Given the description of an element on the screen output the (x, y) to click on. 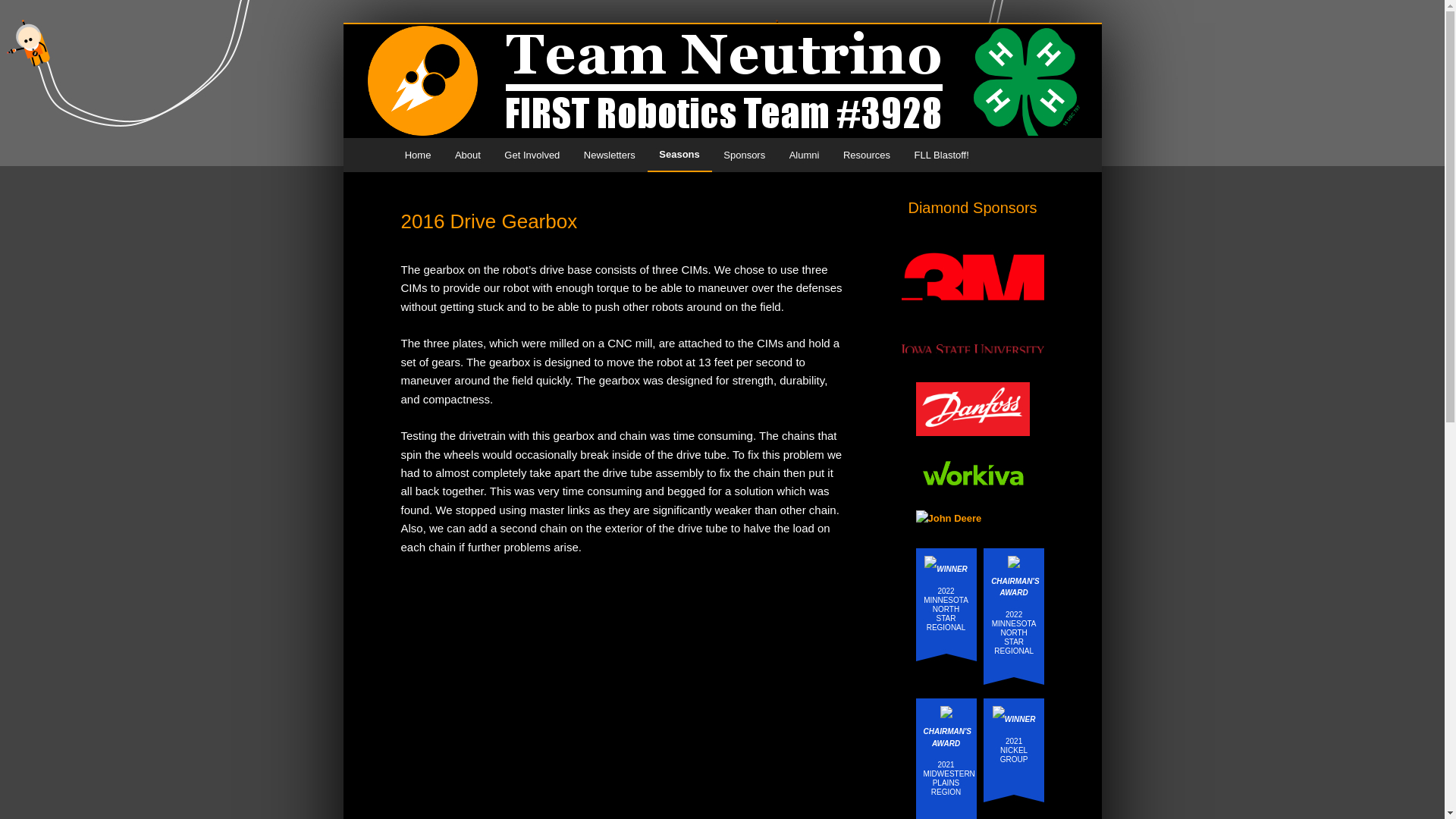
About (467, 154)
Newsletters (609, 154)
Home (417, 154)
Seasons (679, 154)
Skip to primary content (472, 154)
Get Involved (532, 154)
Skip to secondary content (479, 154)
Skip to primary content (472, 154)
Skip to secondary content (479, 154)
